Given the description of an element on the screen output the (x, y) to click on. 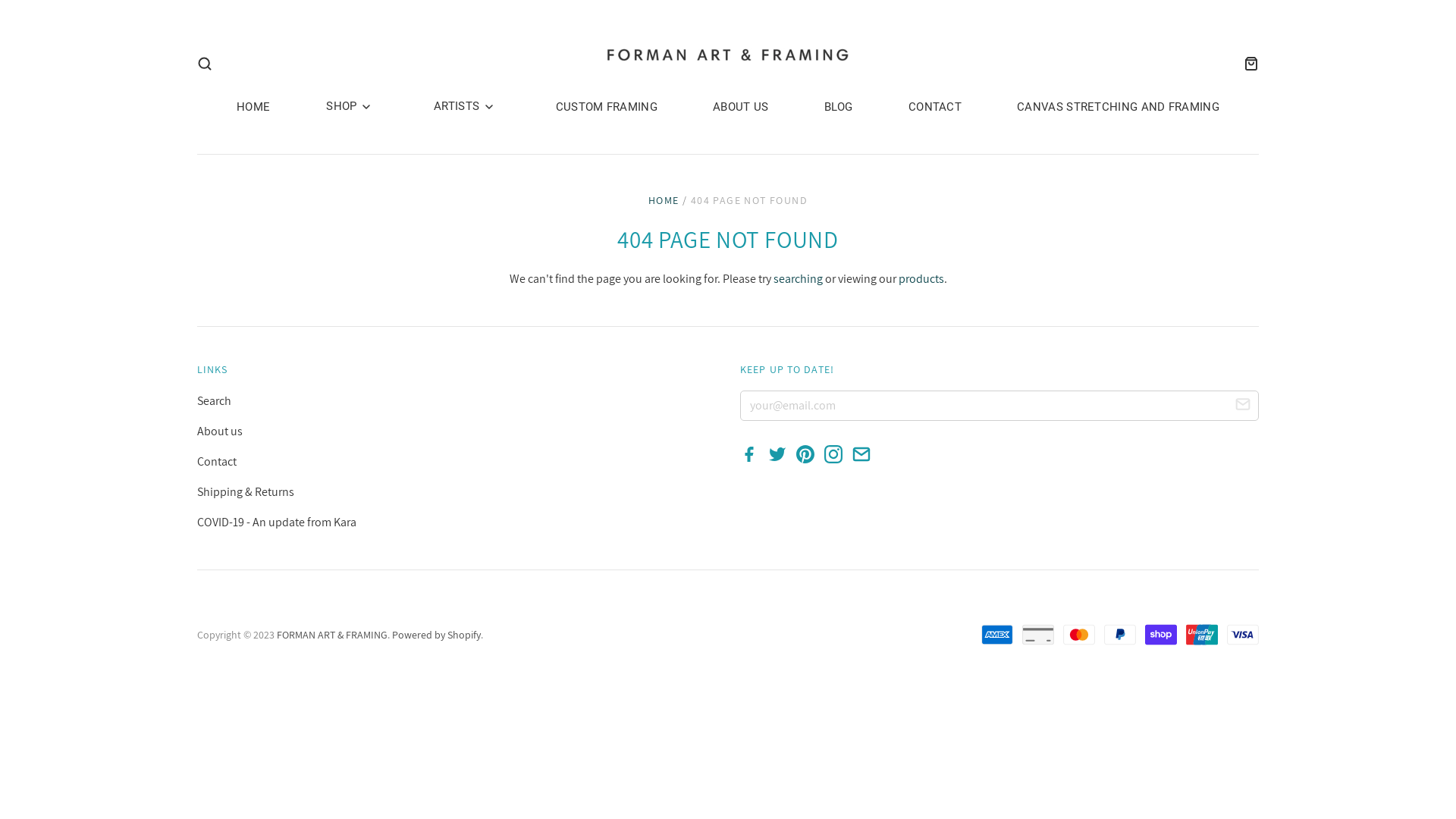
ABOUT US Element type: text (732, 106)
Search Element type: text (214, 400)
FORMAN ART & FRAMING Element type: text (331, 634)
HOME Element type: text (252, 106)
COVID-19 - An update from Kara Element type: text (276, 522)
CUSTOM FRAMING Element type: text (598, 106)
Powered by Shopify Element type: text (436, 634)
Contact Element type: text (216, 461)
products Element type: text (920, 278)
About us Element type: text (219, 431)
searching Element type: text (797, 278)
CONTACT Element type: text (927, 106)
HOME Element type: text (663, 200)
CANVAS STRETCHING AND FRAMING Element type: text (1110, 106)
Shipping & Returns Element type: text (245, 491)
BLOG Element type: text (830, 106)
